Given the description of an element on the screen output the (x, y) to click on. 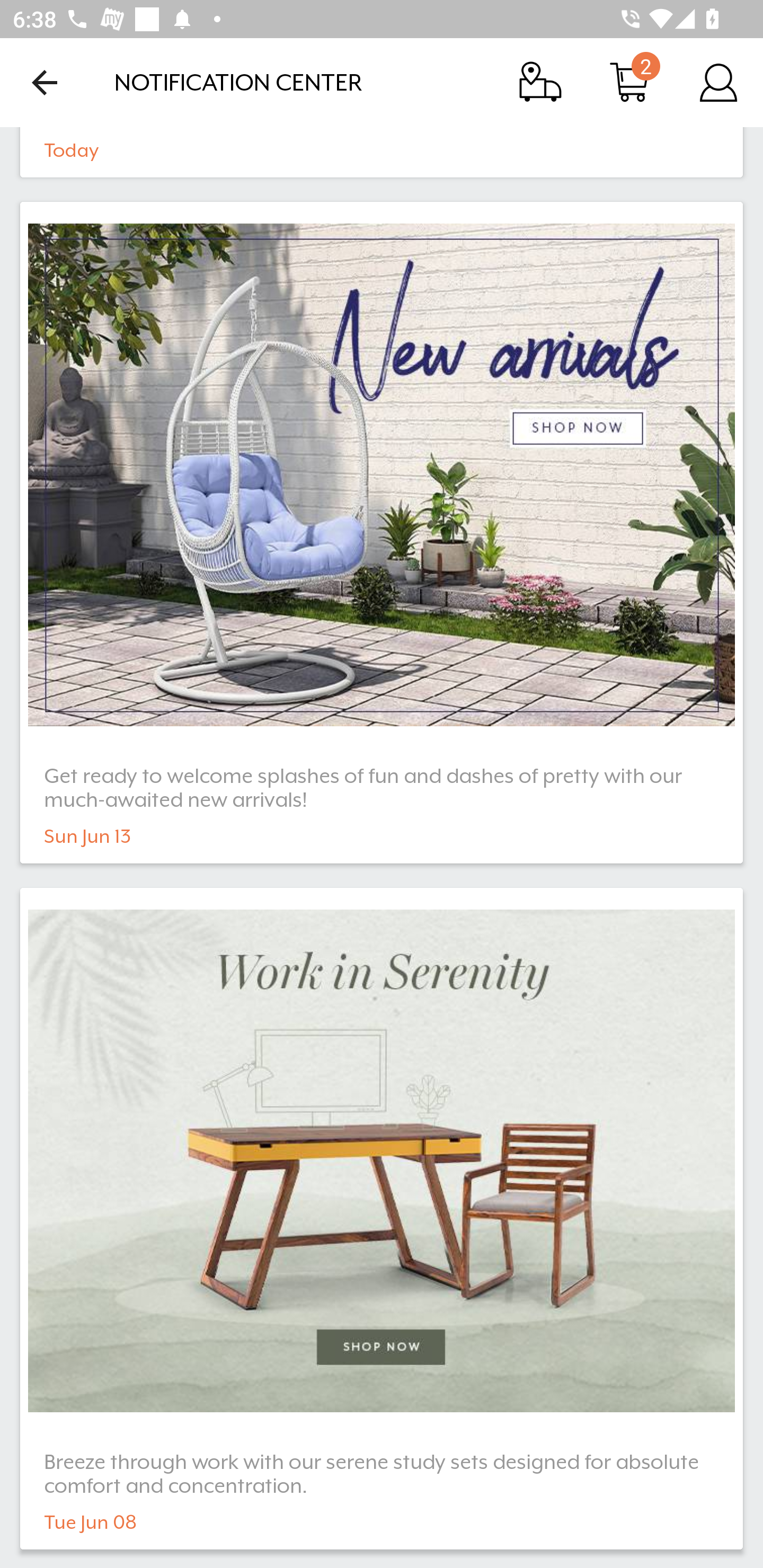
Navigate up (44, 82)
Track Order (540, 81)
Cart (629, 81)
Account Details (718, 81)
Today (381, 152)
